Given the description of an element on the screen output the (x, y) to click on. 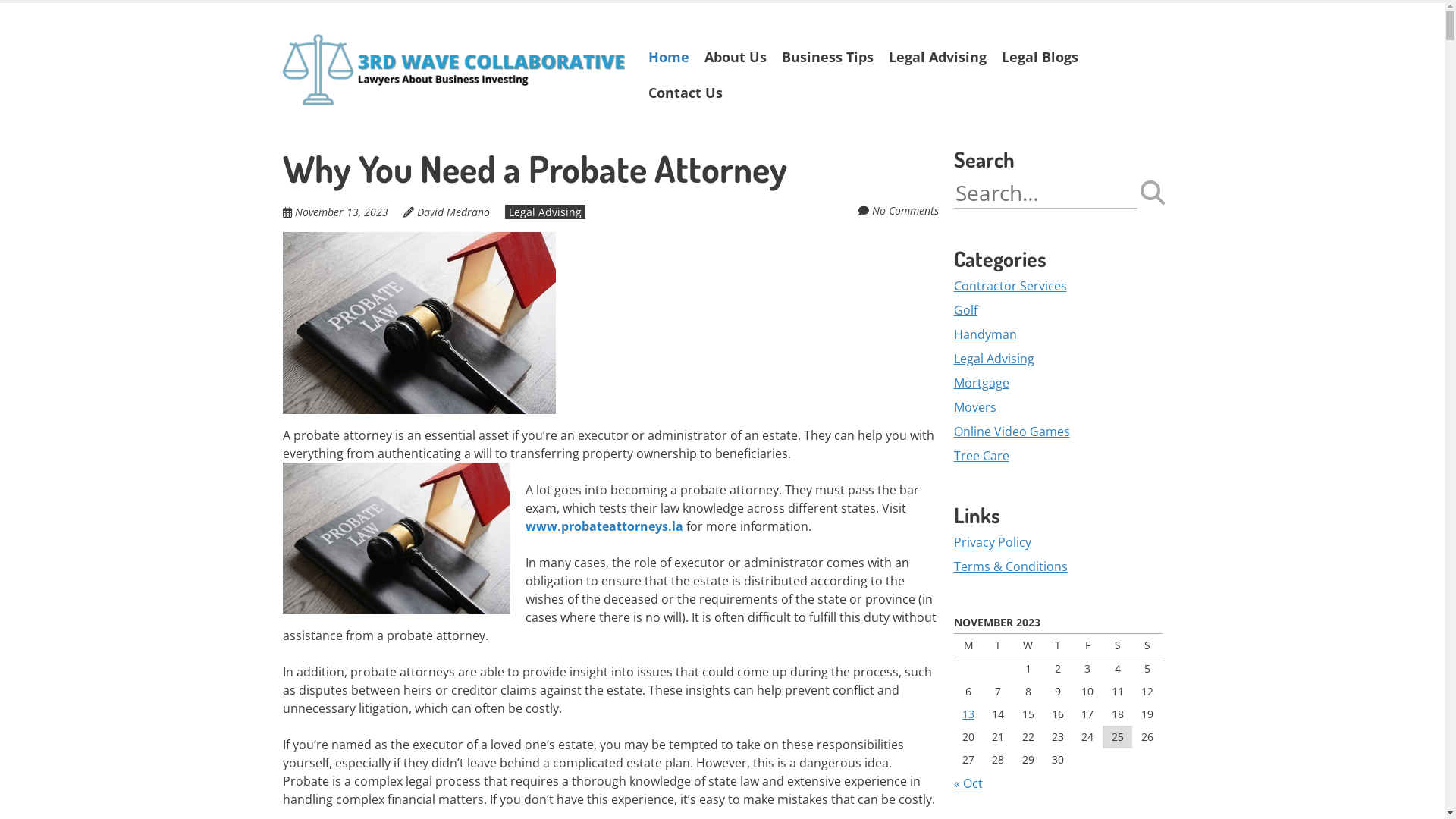
Legal Advising Element type: text (937, 57)
Terms & Conditions Element type: text (1010, 566)
Movers Element type: text (974, 406)
Contractor Services Element type: text (1009, 285)
No Comments Element type: text (905, 210)
Business Tips Element type: text (826, 57)
Why You Need a Probate Attorney Element type: text (534, 168)
Mortgage Element type: text (981, 382)
Online Video Games Element type: text (1011, 431)
Legal Advising Element type: text (545, 211)
November 13, 2023 Element type: text (340, 211)
Legal Blogs Element type: text (1039, 57)
www.probateattorneys.la Element type: text (603, 525)
Legal Advising Element type: text (993, 358)
Tree Care Element type: text (981, 455)
David Medrano Element type: text (453, 211)
Contact Us Element type: text (684, 92)
Home Element type: text (668, 57)
Skip to content Element type: text (640, 66)
Permalink to Why You Need a Probate Attorney Element type: hover (418, 240)
13 Element type: text (968, 713)
Golf Element type: text (965, 309)
About Us Element type: text (734, 57)
Privacy Policy Element type: text (992, 541)
Handyman Element type: text (984, 334)
